Given the description of an element on the screen output the (x, y) to click on. 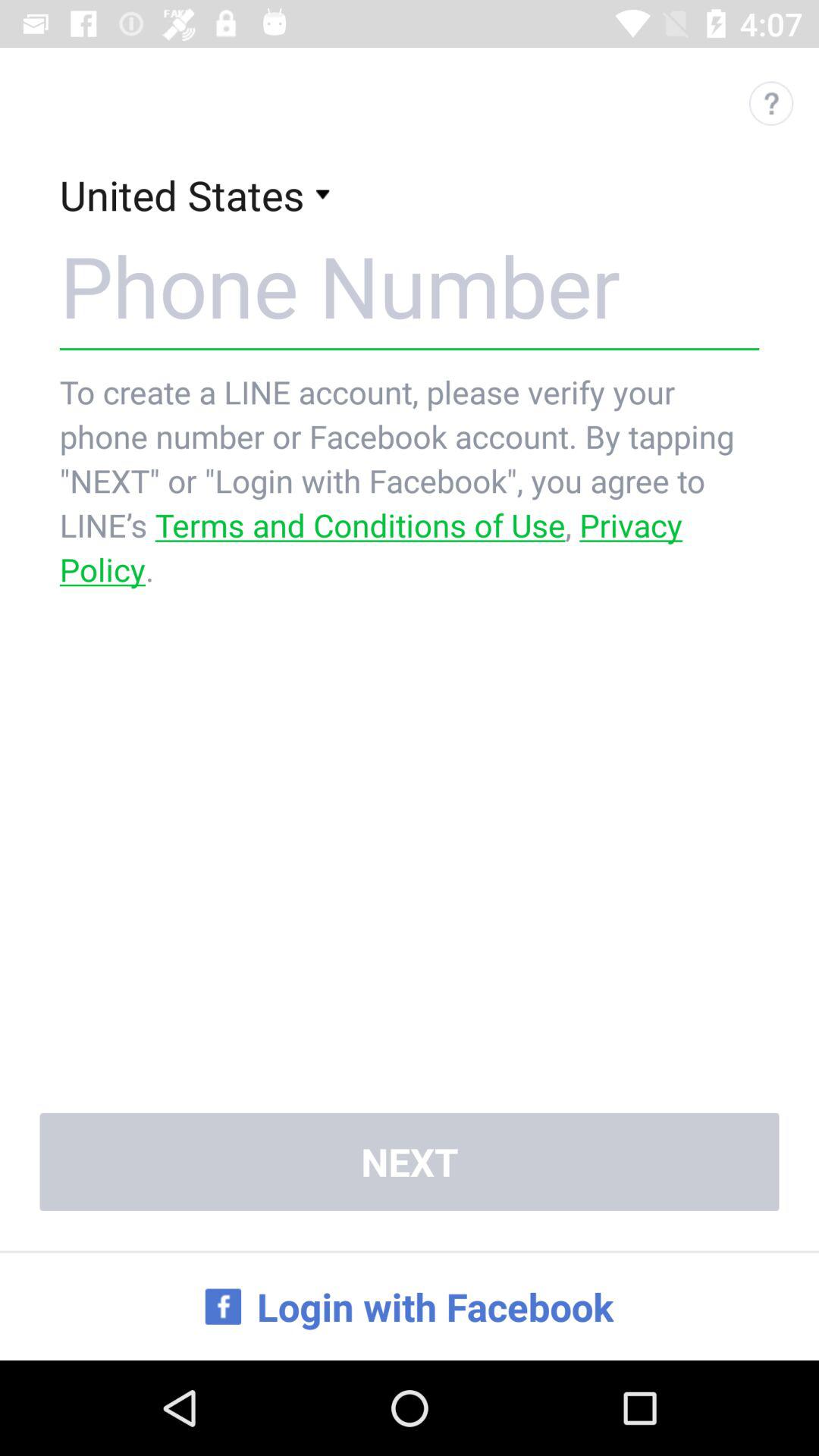
scroll to to create a item (409, 480)
